Given the description of an element on the screen output the (x, y) to click on. 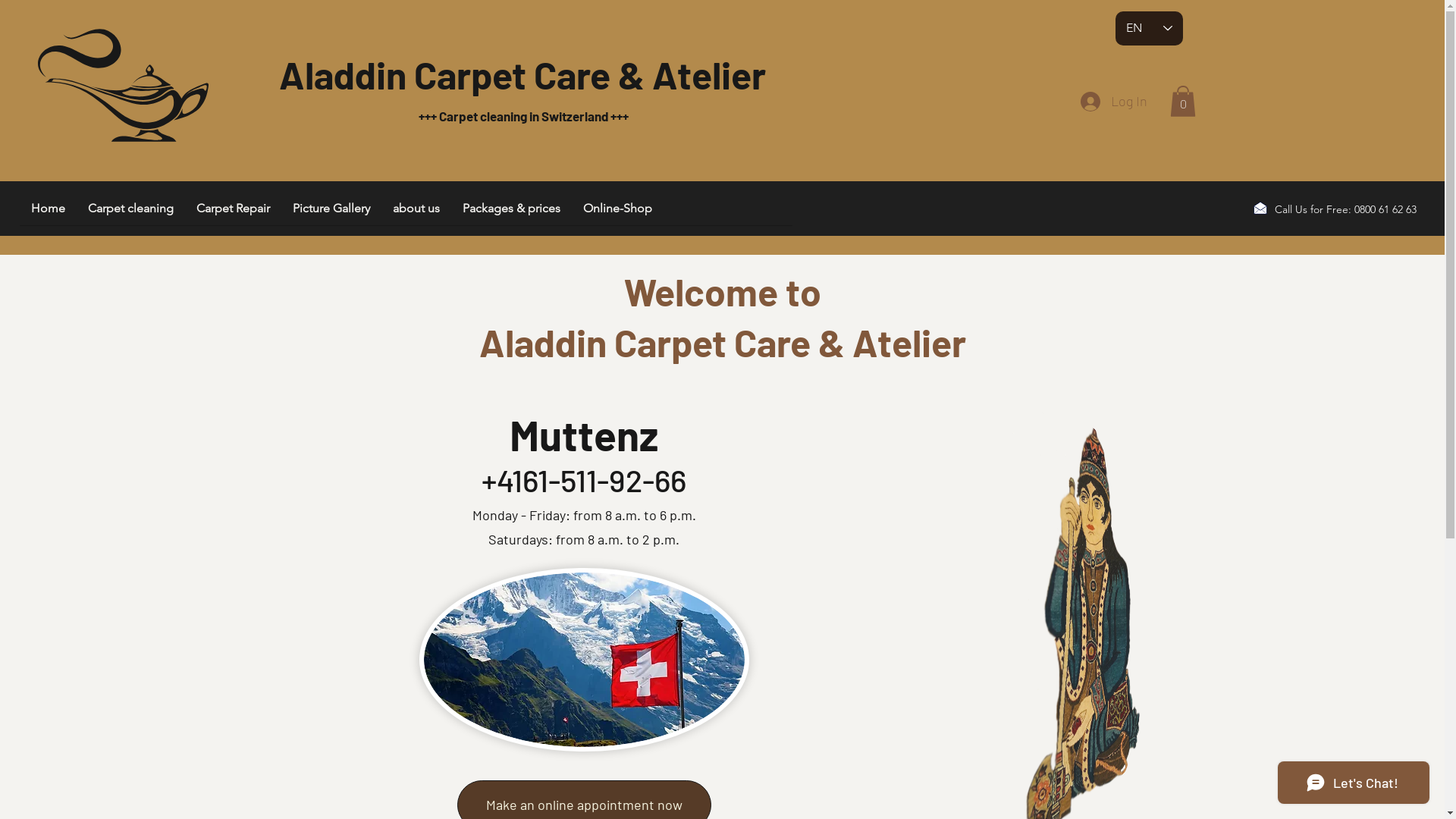
schweiz.jpg Element type: hover (583, 659)
Log In Element type: text (1113, 101)
Packages & prices Element type: text (511, 213)
 +++ Carpet cleaning in Switzerland +++ Element type: text (521, 116)
Carpet Repair Element type: text (233, 213)
Home Element type: text (47, 213)
0 Element type: text (1182, 100)
Online-Shop Element type: text (617, 213)
Picture Gallery Element type: text (331, 213)
about us Element type: text (416, 213)
Carpet cleaning Element type: text (130, 213)
